Given the description of an element on the screen output the (x, y) to click on. 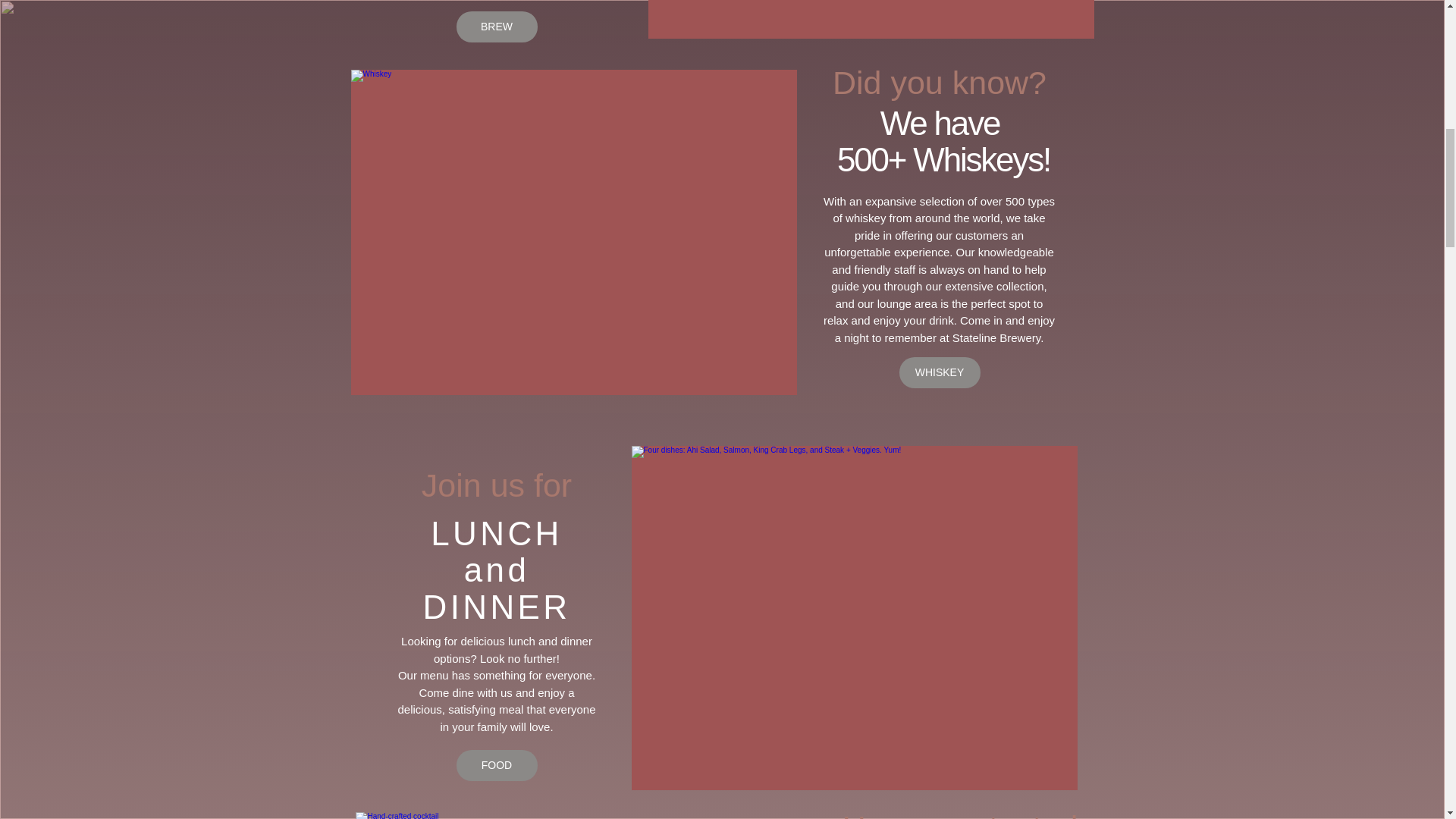
BREW (497, 26)
FOOD (497, 765)
WHISKEY (939, 372)
